Given the description of an element on the screen output the (x, y) to click on. 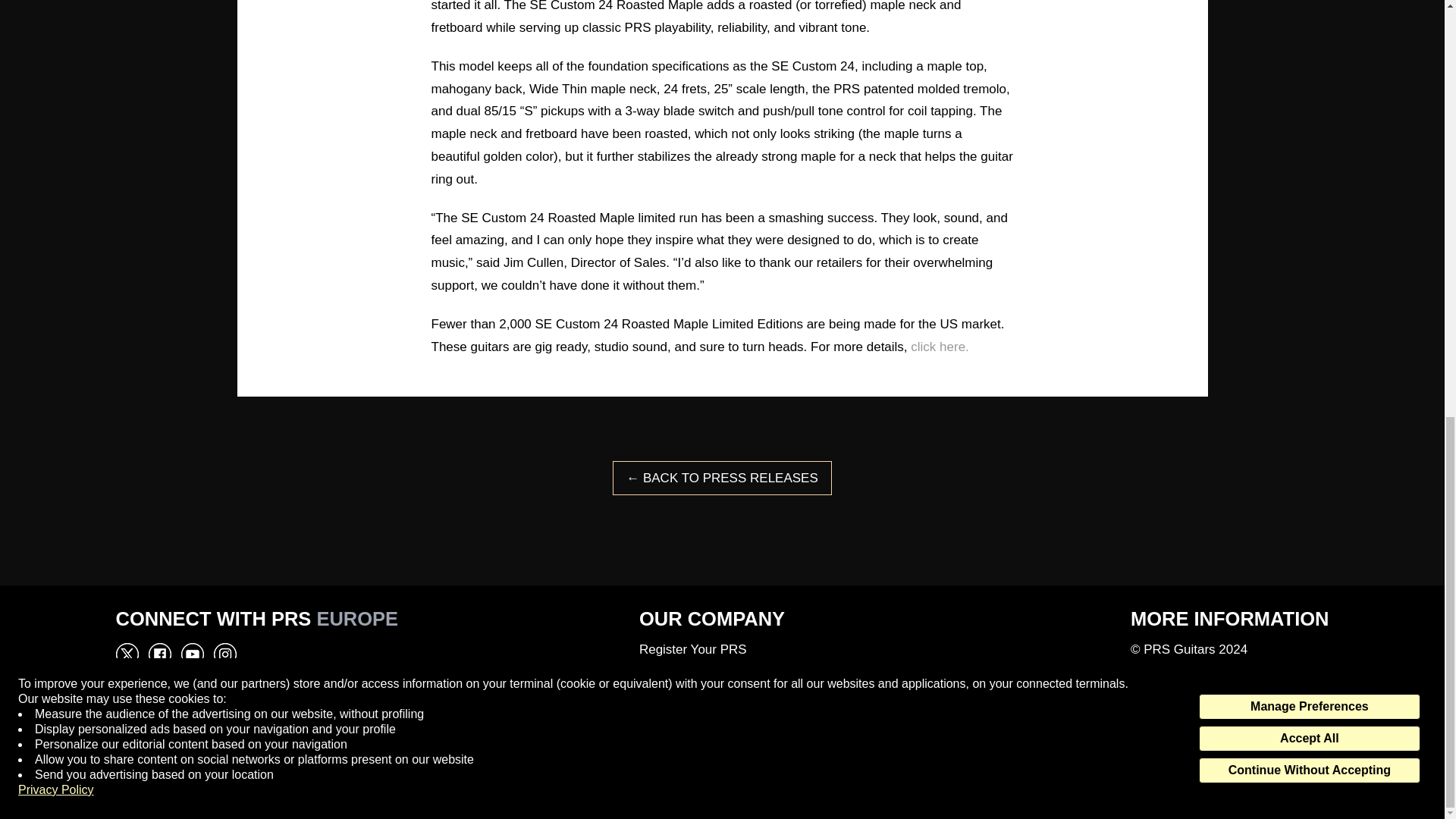
TikTok (257, 739)
YouTube (191, 739)
X (126, 653)
Facebook (159, 653)
Instagram (224, 653)
Instagram (224, 739)
X (126, 739)
Facebook (159, 739)
YouTube (191, 653)
